Given the description of an element on the screen output the (x, y) to click on. 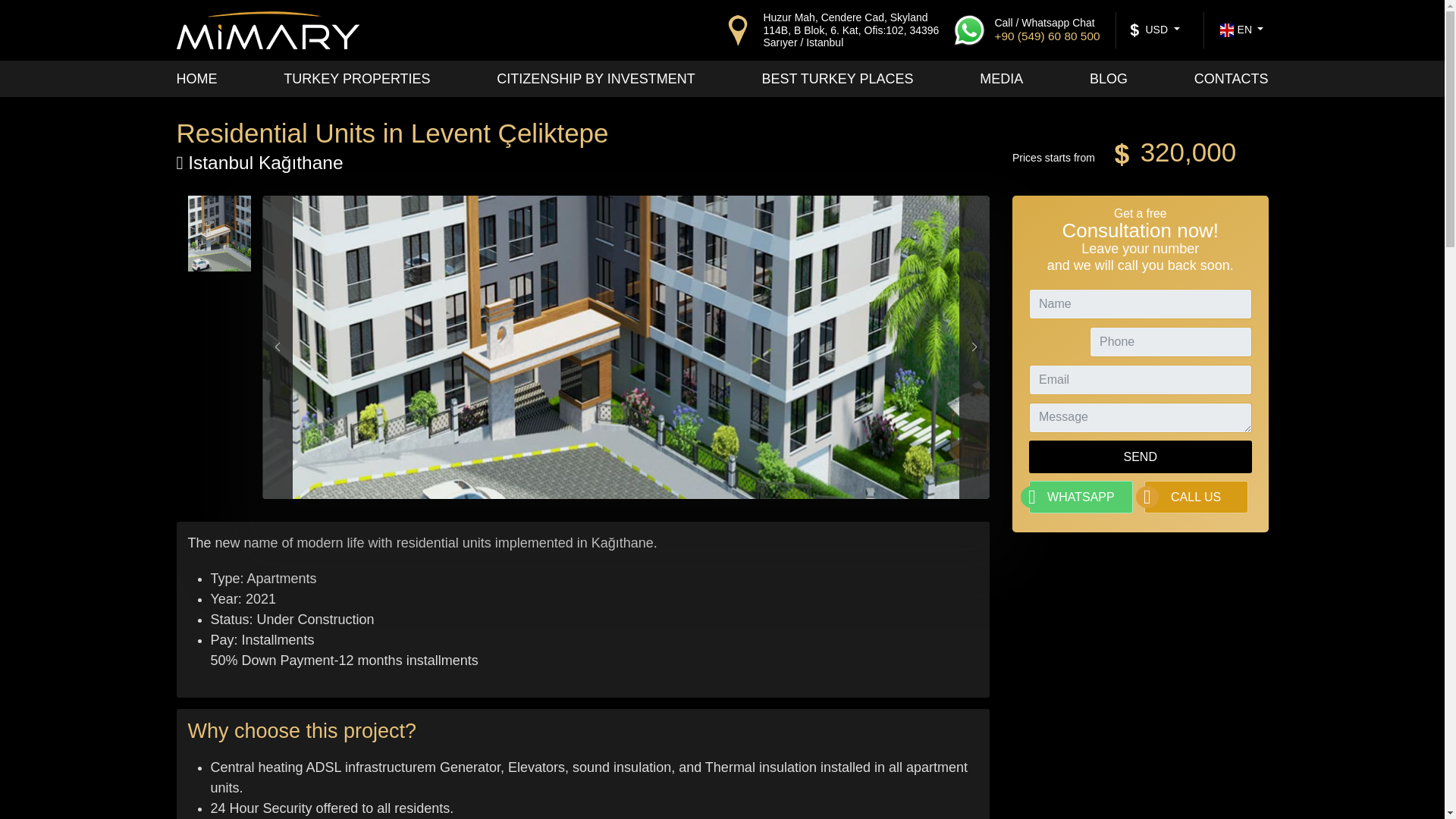
TURKEY PROPERTIES (356, 78)
BEST TURKEY PLACES (836, 78)
WHATSAPP (1080, 496)
SEND (1140, 456)
CALL US (1195, 496)
USD (1154, 30)
BLOG (1107, 78)
CITIZENSHIP BY INVESTMENT (595, 78)
EN (1241, 30)
CONTACTS (1230, 78)
HOME (196, 78)
MEDIA (1001, 78)
